Given the description of an element on the screen output the (x, y) to click on. 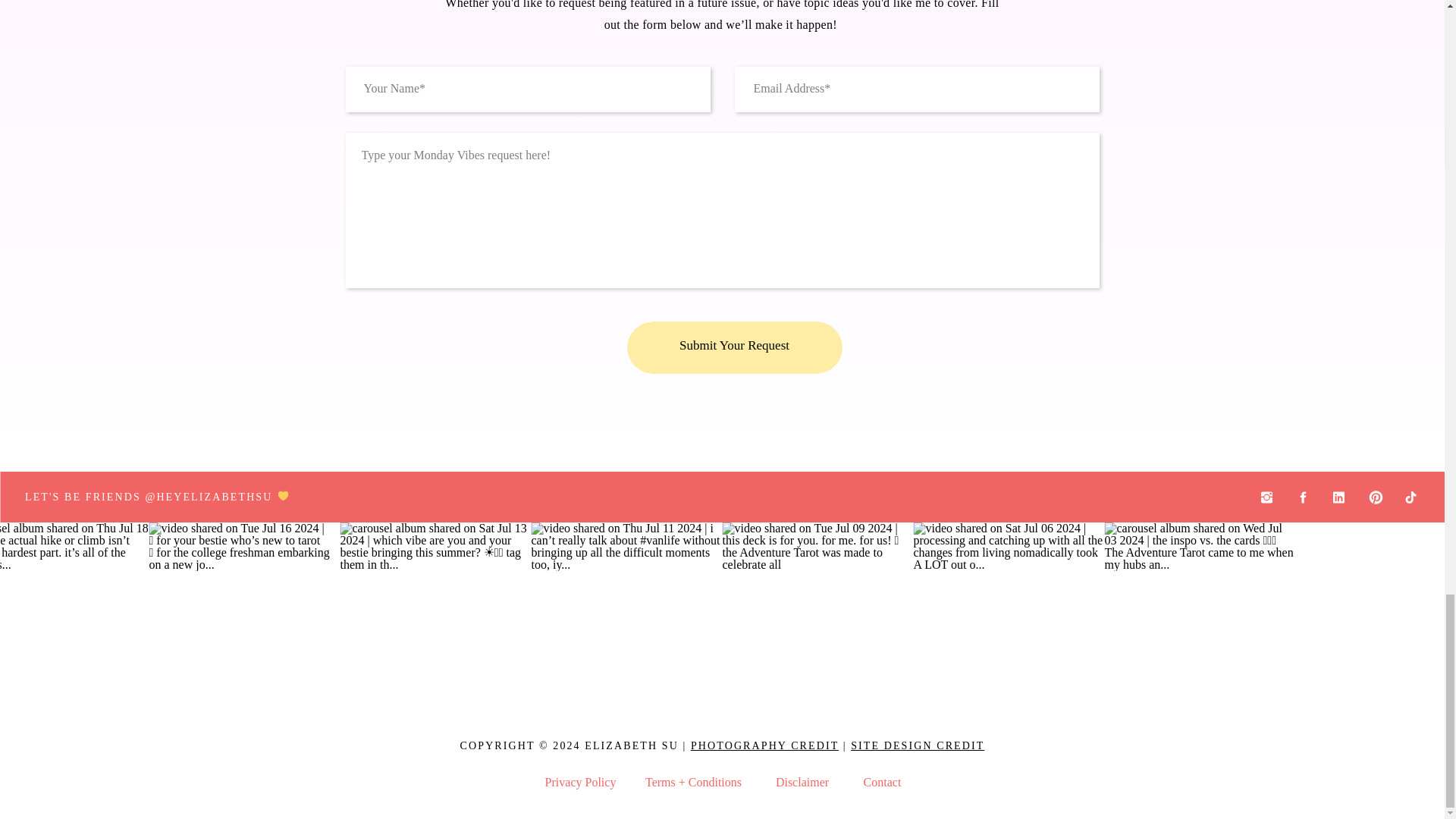
Submit Your Request (734, 346)
